Given the description of an element on the screen output the (x, y) to click on. 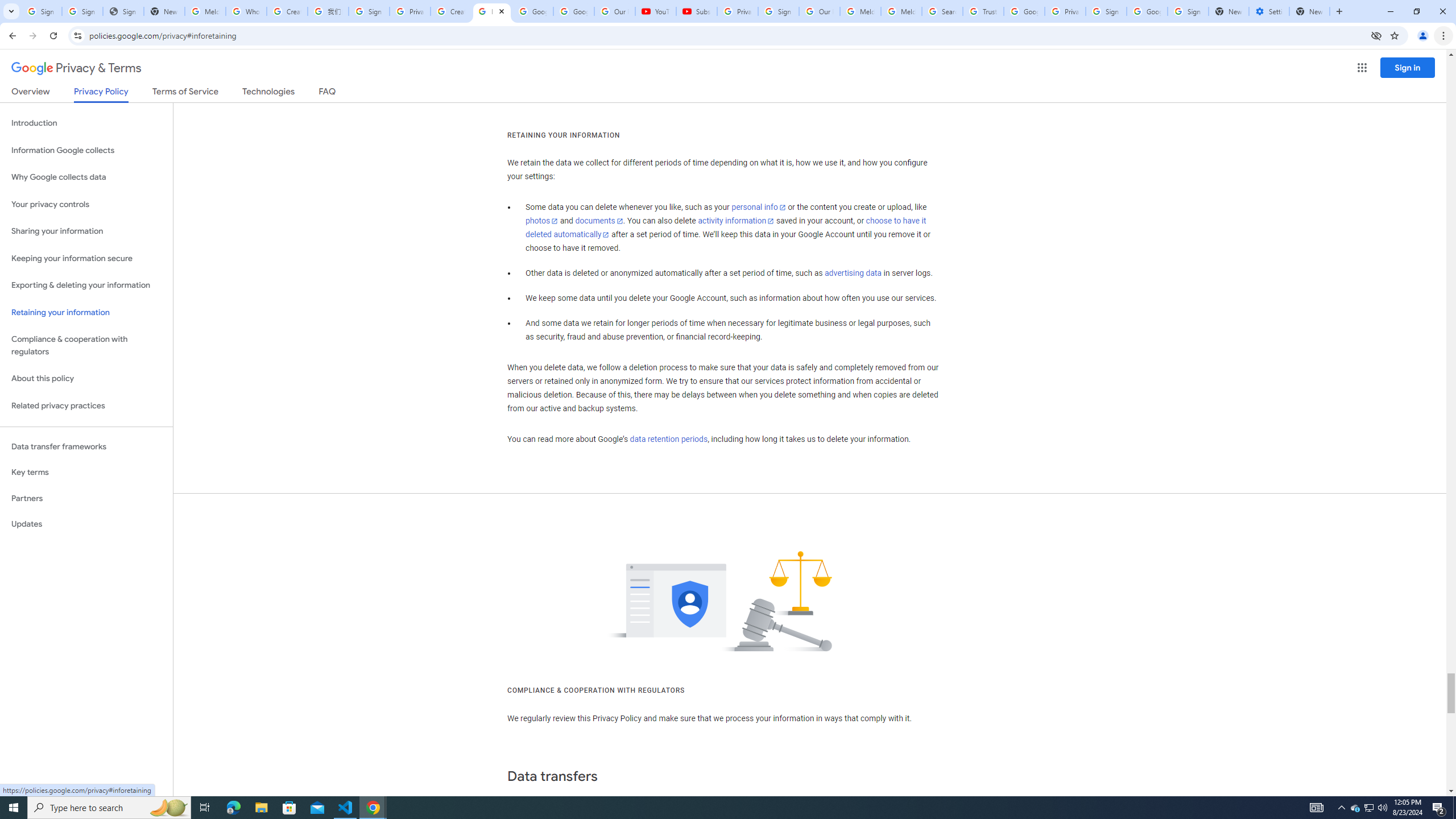
Terms of Service (184, 93)
Google Cybersecurity Innovations - Google Safety Center (1146, 11)
Create your Google Account (450, 11)
